Given the description of an element on the screen output the (x, y) to click on. 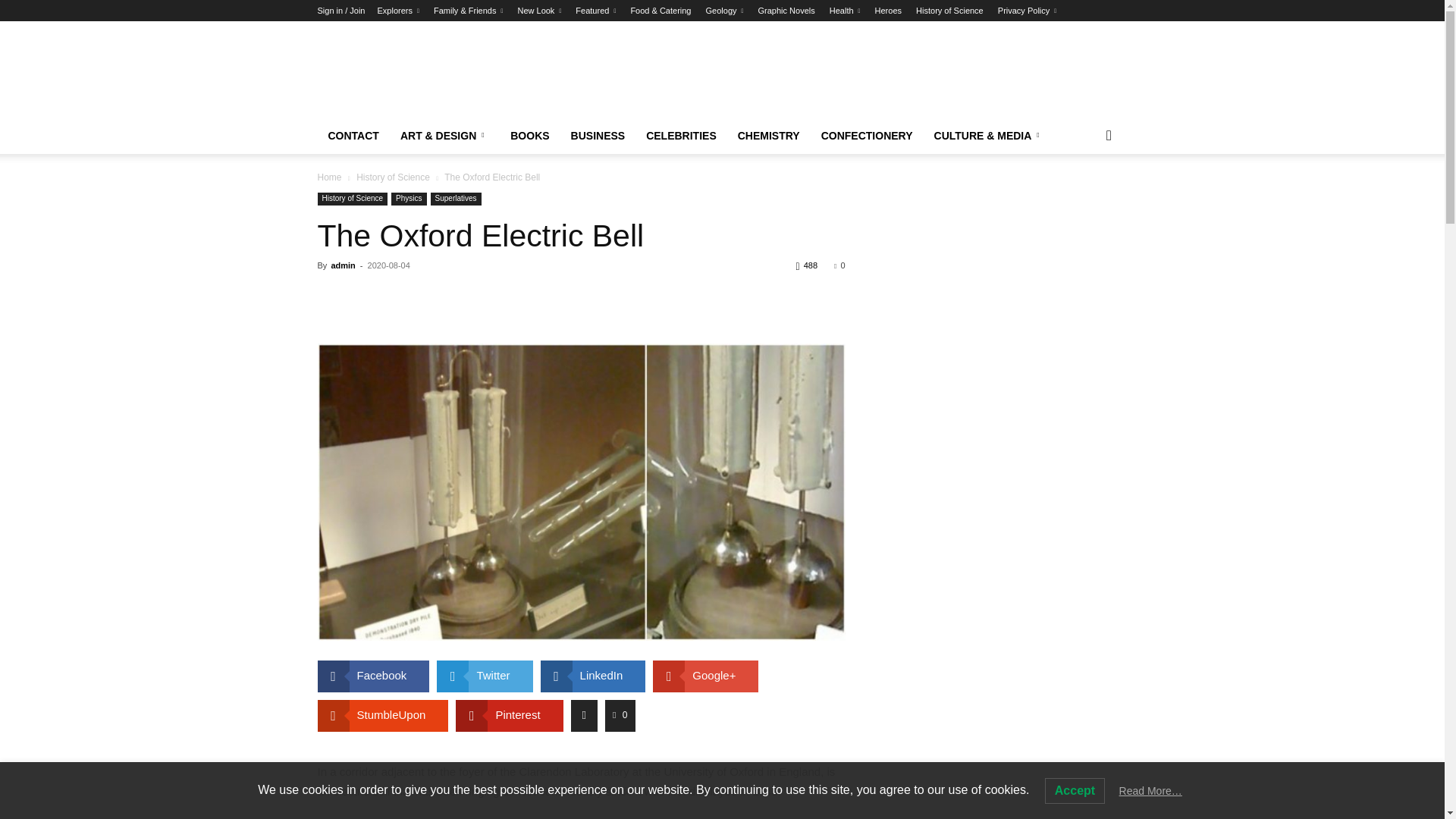
BOOKS (529, 135)
Heroes (888, 10)
Featured (595, 10)
Health (844, 10)
New Look (538, 10)
Privacy Policy (1027, 10)
Geology (725, 10)
Explorers (398, 10)
View all posts in History of Science (392, 176)
History of Science (949, 10)
Graphic Novels (786, 10)
CONTACT (352, 135)
